Given the description of an element on the screen output the (x, y) to click on. 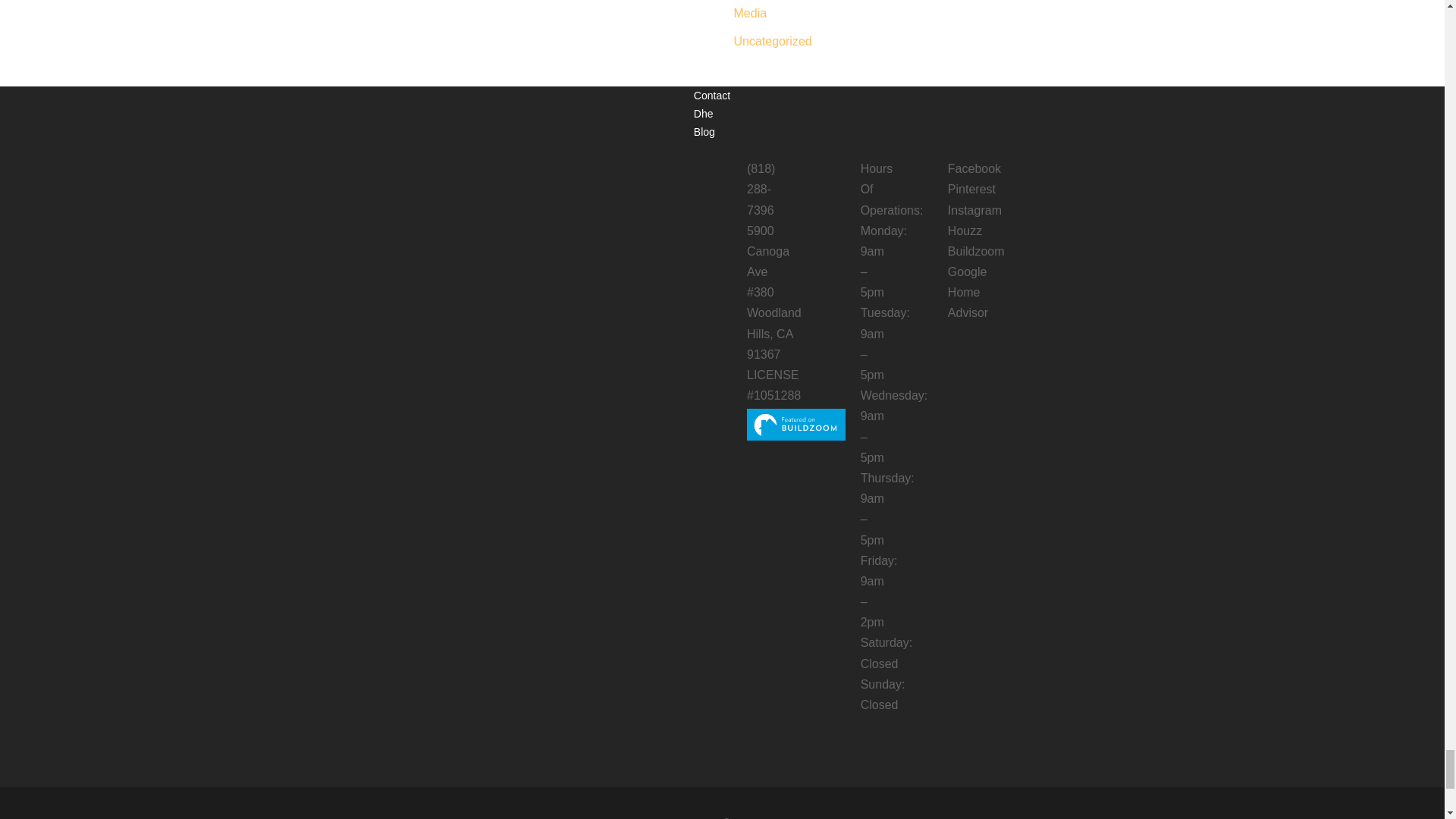
Pinterest (971, 188)
Uncategorized (772, 41)
Facebook (974, 168)
Houzz (964, 230)
Instagram (974, 210)
Social Media (750, 9)
BuildZoom.com (795, 424)
